Given the description of an element on the screen output the (x, y) to click on. 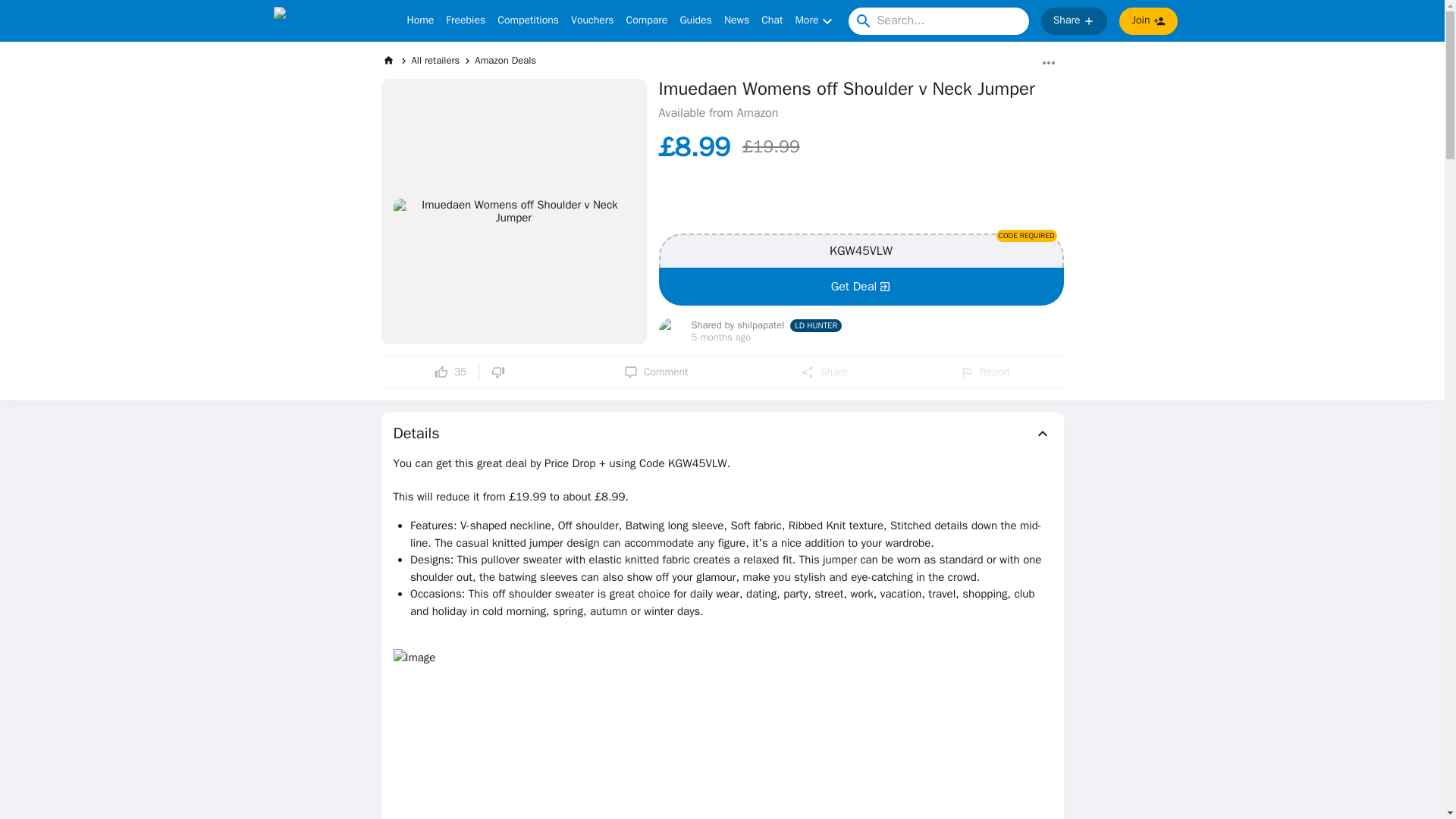
Share (1074, 21)
Details (722, 434)
Freebies (464, 21)
Get Deal (860, 286)
Compare (647, 21)
Home (419, 21)
Join (1147, 21)
Guides (695, 21)
Share (823, 371)
Competitions (528, 21)
Amazon Deals (504, 60)
35 (450, 372)
All retailers (435, 60)
Shared by shilpapatel (737, 325)
Vouchers (591, 21)
